Given the description of an element on the screen output the (x, y) to click on. 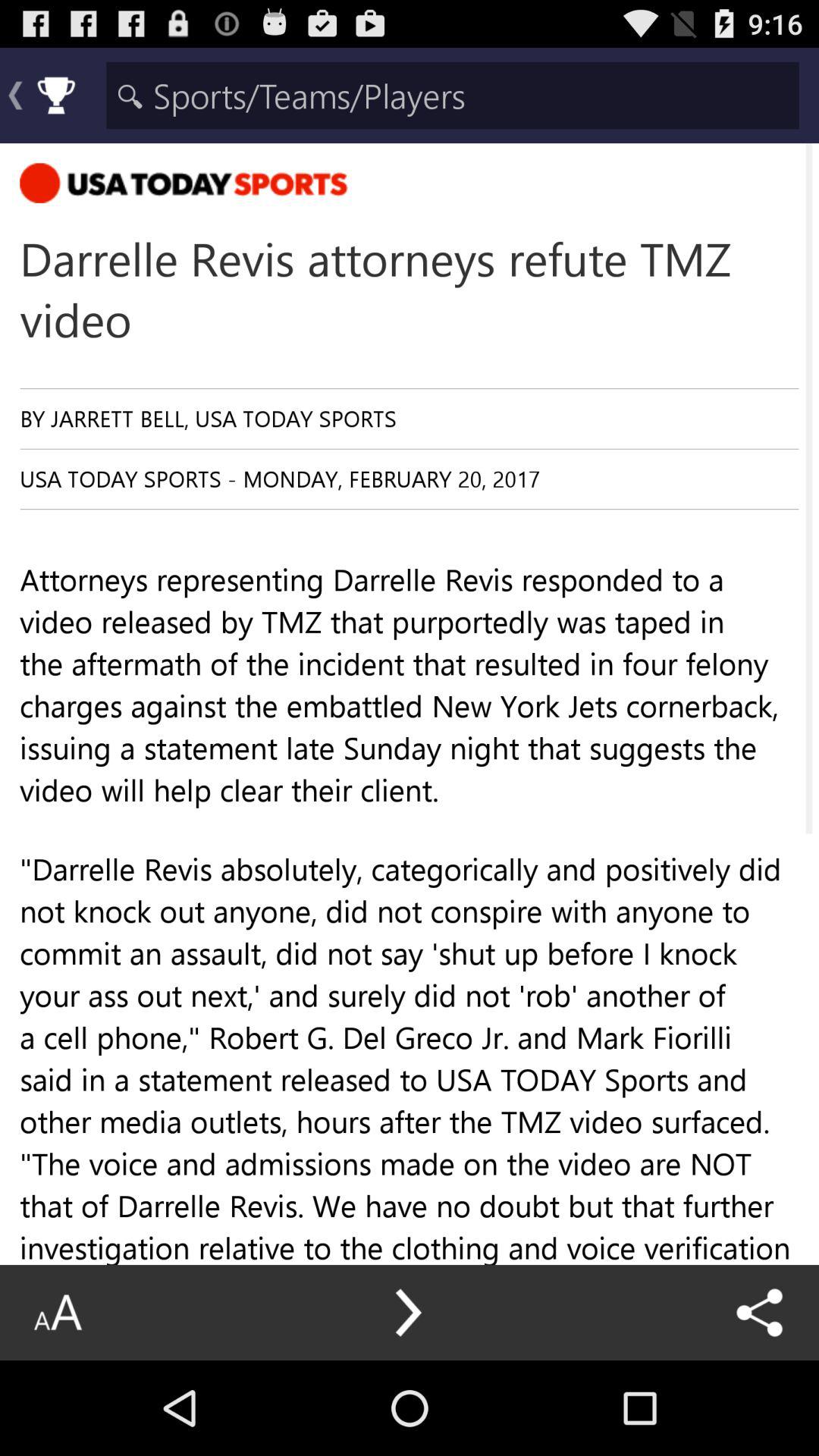
search sports news (452, 95)
